Given the description of an element on the screen output the (x, y) to click on. 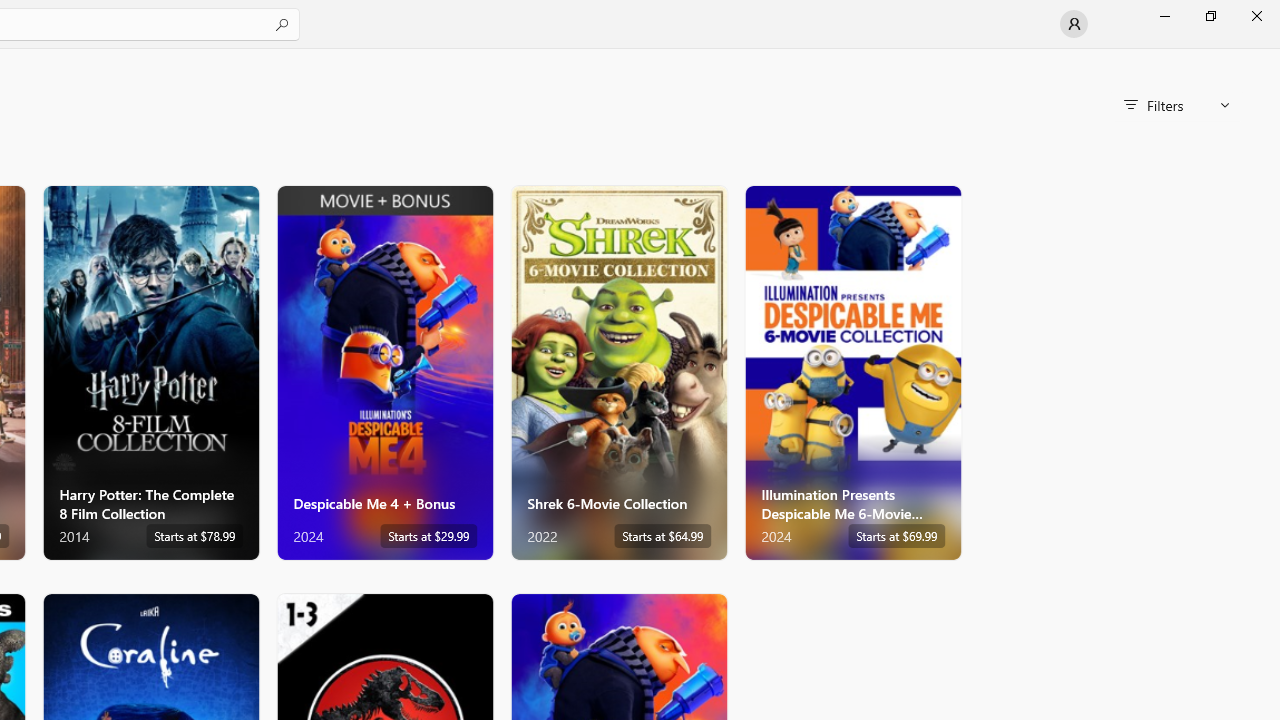
Despicable Me 4 + Bonus. Starts at $29.99   (385, 372)
Minimize Microsoft Store (1164, 15)
Filters (1176, 105)
Vertical Small Decrease (1272, 55)
Restore Microsoft Store (1210, 15)
Close Microsoft Store (1256, 15)
User profile (1073, 24)
